Given the description of an element on the screen output the (x, y) to click on. 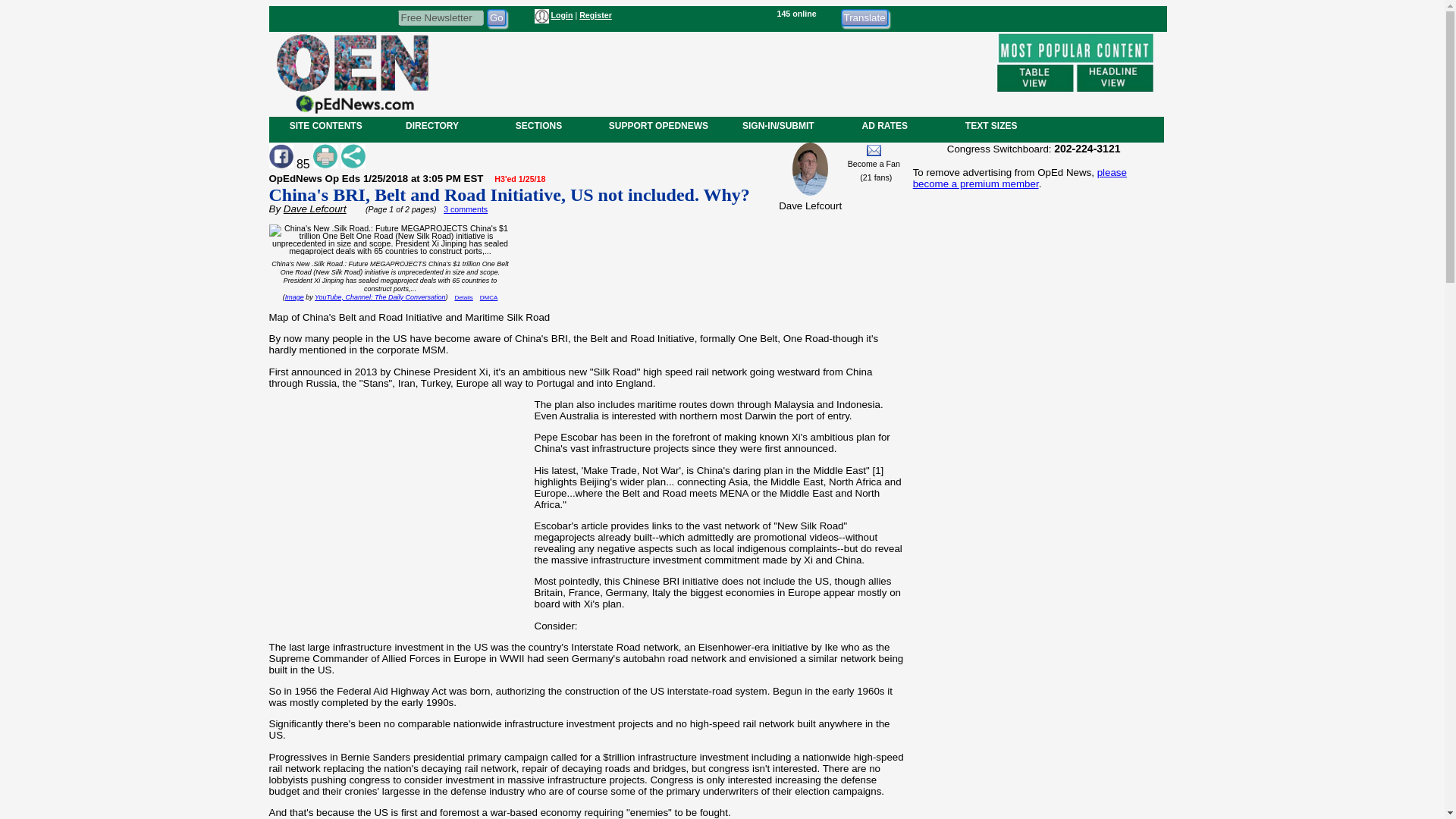
AD RATES (884, 125)
SUPPORT OPEDNEWS (658, 125)
Translate (864, 17)
Report Copyright Violation (488, 297)
DMCA (488, 297)
Become a Fan (873, 163)
Details (462, 297)
Login (561, 14)
YouTube, Channel: The Daily Conversation (379, 297)
Dave Lefcourt (314, 208)
